Given the description of an element on the screen output the (x, y) to click on. 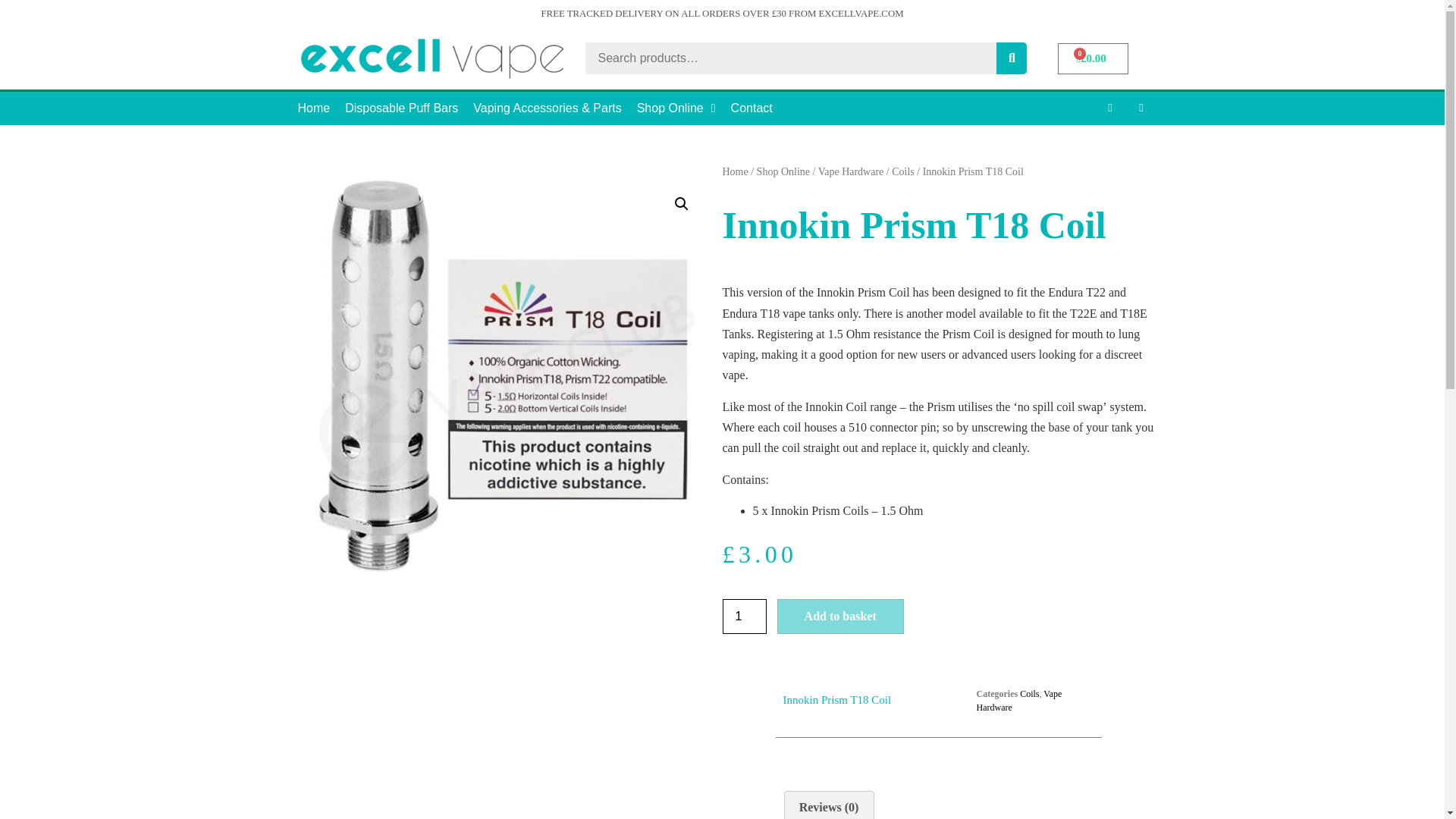
Shop Online (783, 171)
Vape Hardware (1018, 700)
Add to basket (840, 615)
Disposable Puff Bars (401, 108)
Coils (1029, 693)
Contact (751, 108)
Shop Online (675, 108)
Home (735, 171)
Coils (902, 171)
Vape Hardware (850, 171)
Search (1010, 58)
Home (313, 108)
1 (743, 615)
